Given the description of an element on the screen output the (x, y) to click on. 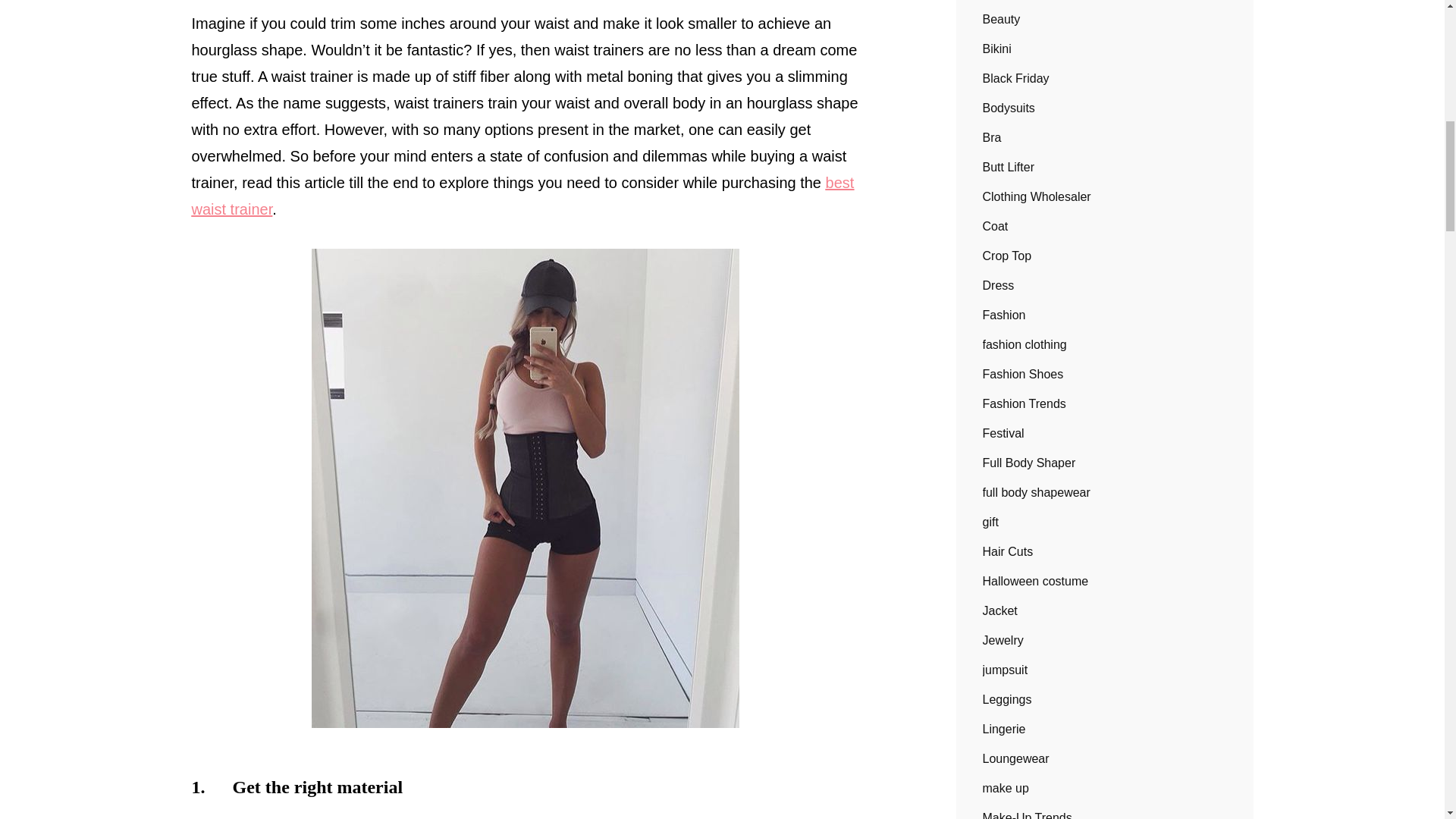
Fashion Shoes (1023, 374)
Clothing Wholesaler (1036, 197)
Crop Top (1007, 256)
Beauty (1001, 19)
Bodysuits (1008, 108)
Coat (995, 226)
Bikini (996, 48)
Festival (1003, 433)
Butt Lifter (1007, 167)
fashion clothing (1024, 344)
Black Friday (1015, 78)
Fashion Trends (1023, 404)
best waist trainer (521, 195)
Full Body Shaper (1028, 463)
Fashion (1004, 315)
